Given the description of an element on the screen output the (x, y) to click on. 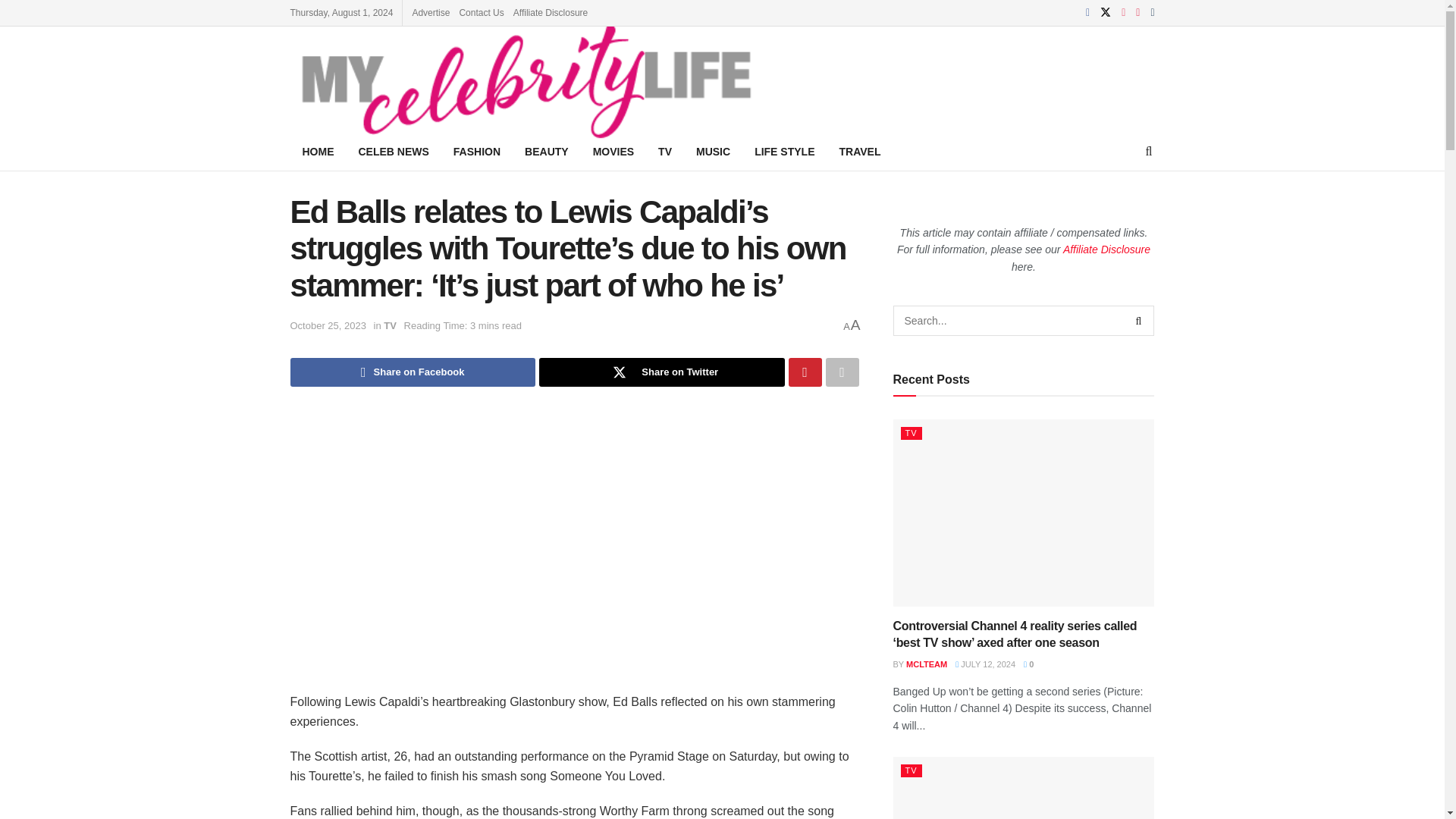
FASHION (476, 151)
MUSIC (713, 151)
MOVIES (613, 151)
LIFE STYLE (784, 151)
HOME (317, 151)
BEAUTY (546, 151)
CELEB NEWS (393, 151)
Advertise (430, 12)
TRAVEL (859, 151)
TV (665, 151)
TV (390, 325)
October 25, 2023 (327, 325)
Affiliate Disclosure (550, 12)
Contact Us (480, 12)
